Given the description of an element on the screen output the (x, y) to click on. 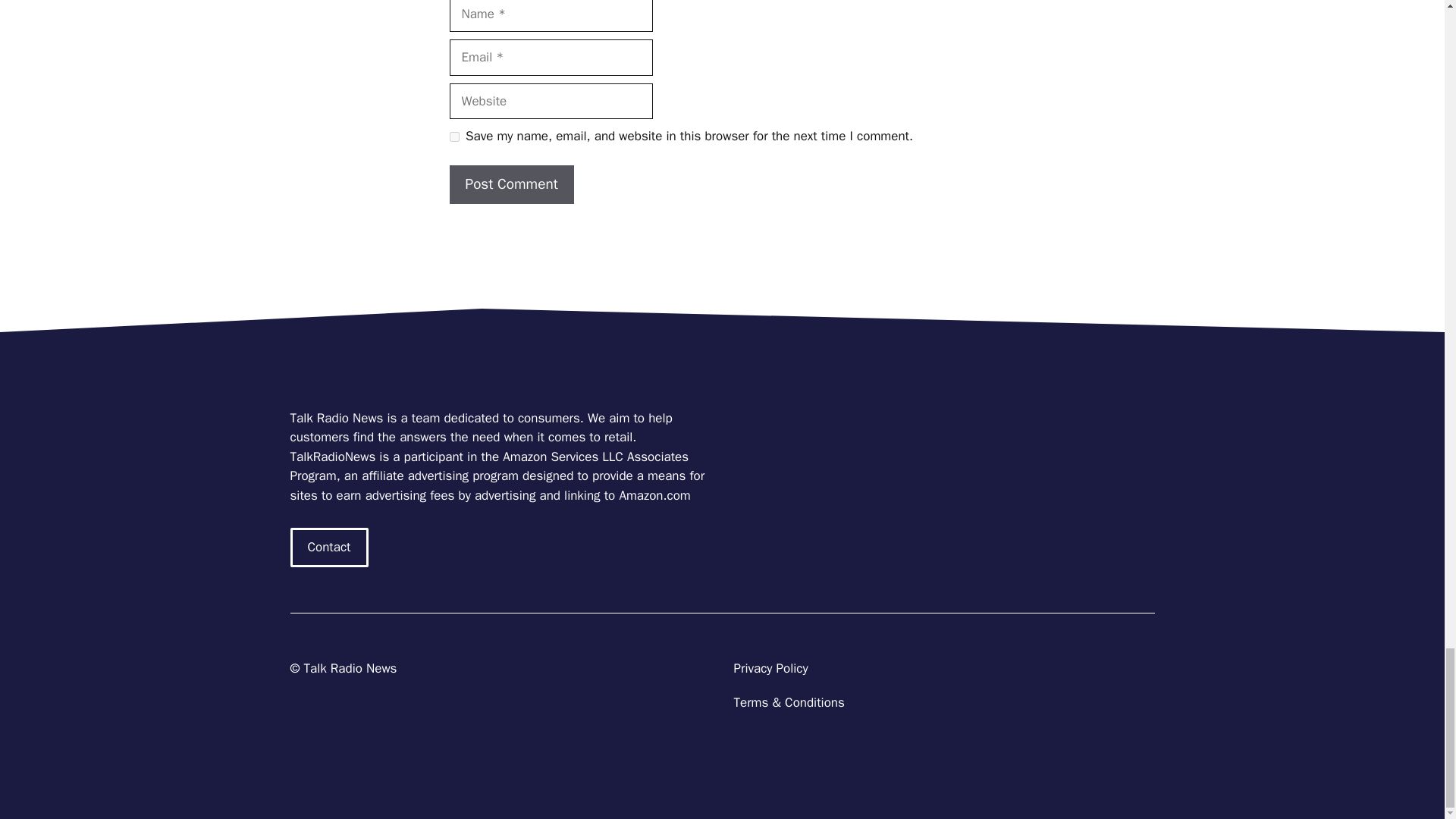
Post Comment (510, 184)
Post Comment (510, 184)
yes (453, 136)
Contact (328, 547)
Privacy Policy (770, 668)
